Given the description of an element on the screen output the (x, y) to click on. 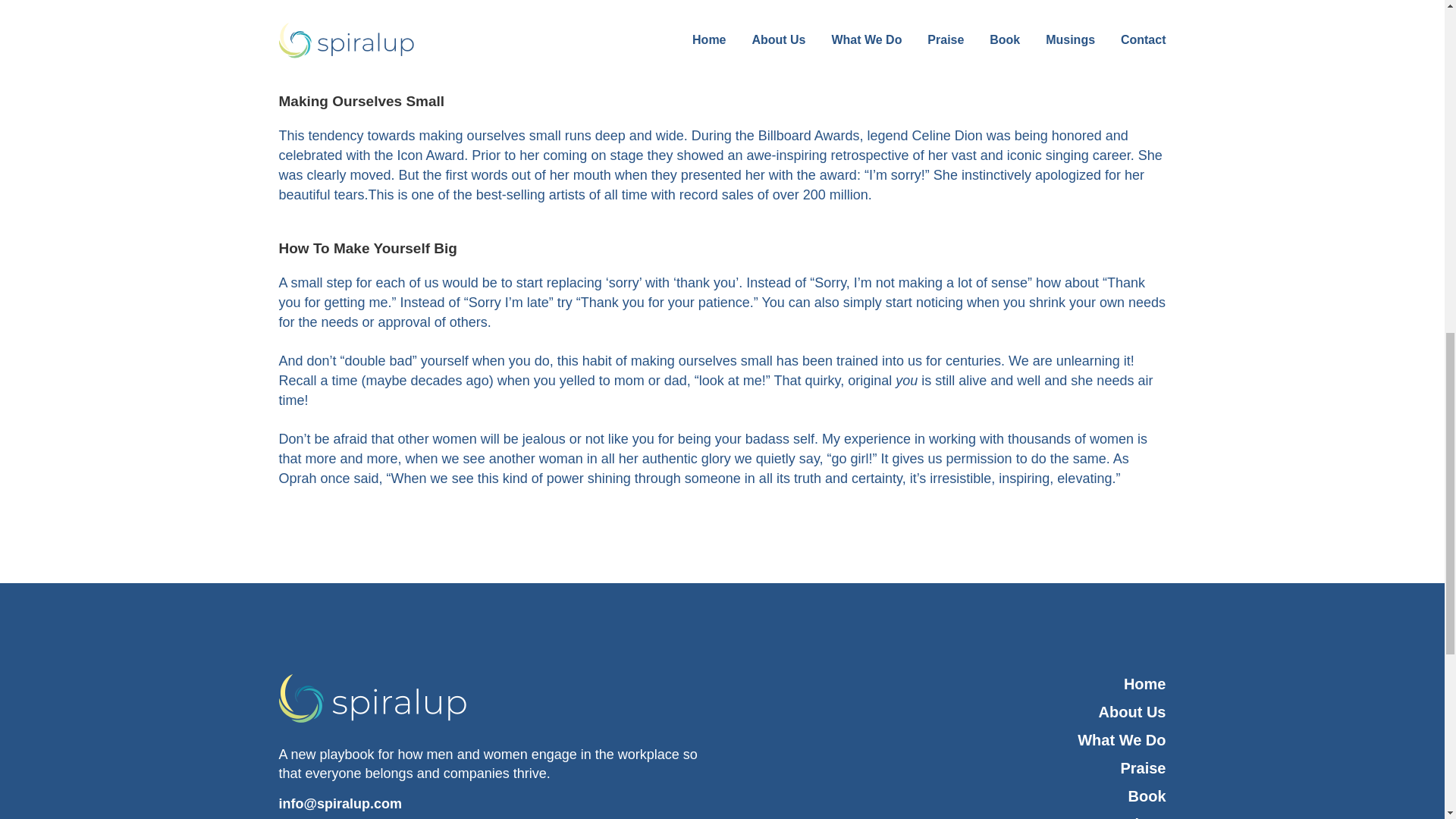
Musings (949, 816)
About Us (949, 711)
What We Do (949, 740)
Book (949, 796)
Praise (949, 768)
Home (949, 684)
